Given the description of an element on the screen output the (x, y) to click on. 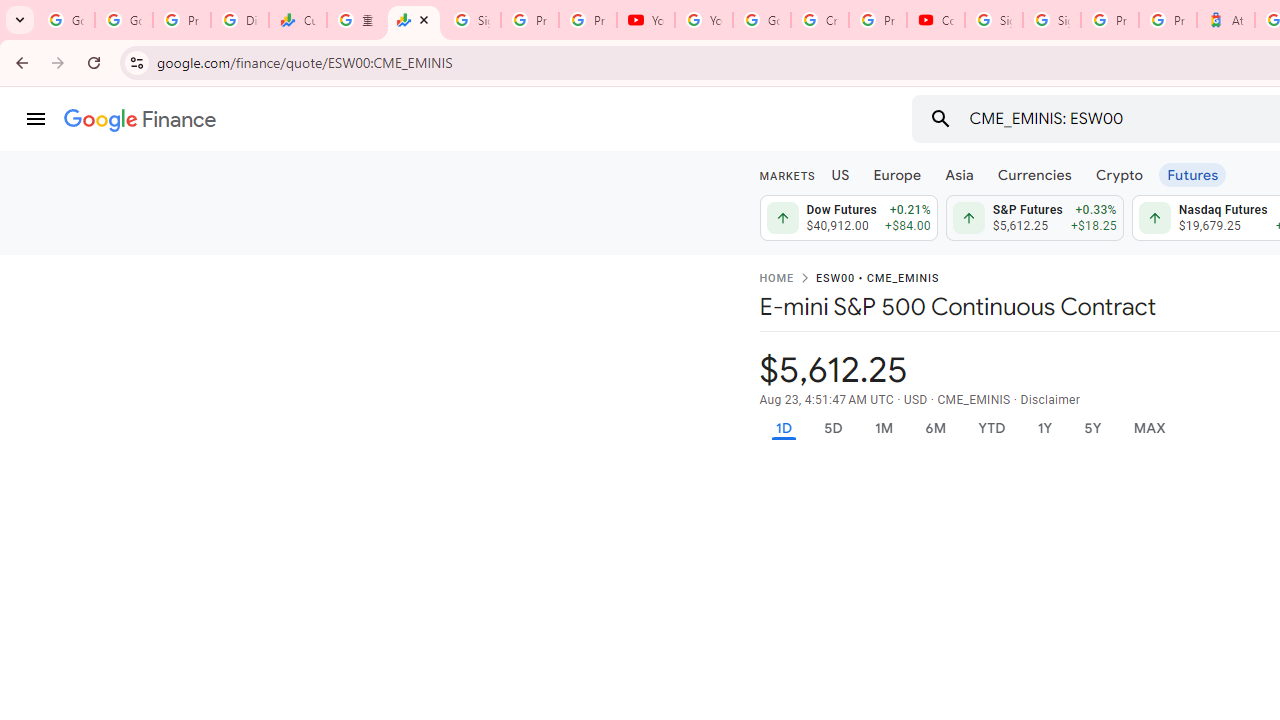
Crypto (1119, 174)
Google Workspace Admin Community (65, 20)
Atour Hotel - Google hotels (1225, 20)
Disclaimer (1050, 399)
Asia (958, 174)
Europe (897, 174)
Sign in - Google Accounts (471, 20)
1Y (1044, 427)
Content Creator Programs & Opportunities - YouTube Creators (936, 20)
